Given the description of an element on the screen output the (x, y) to click on. 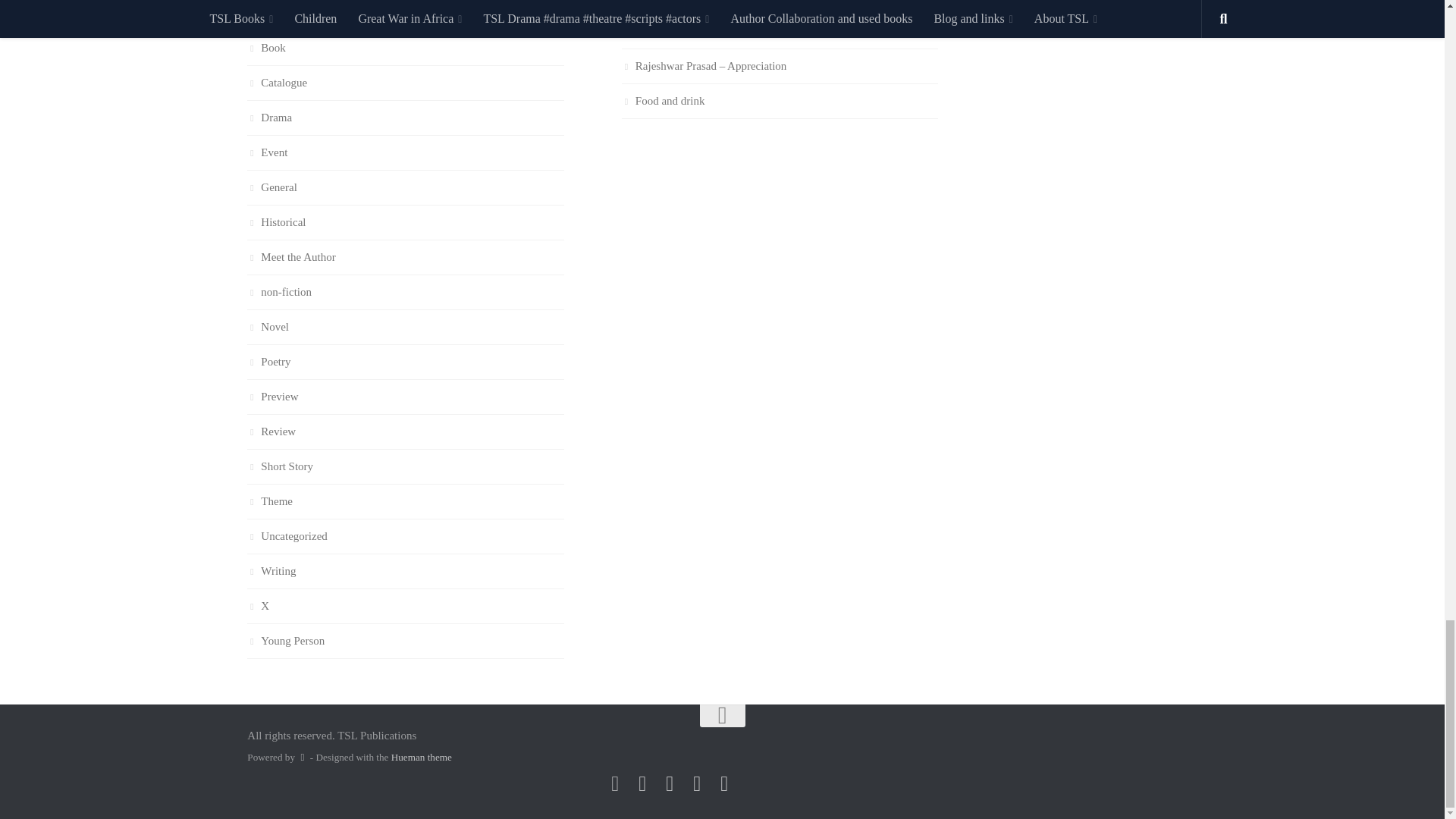
Hueman theme (421, 756)
Follow us on Mastodon (615, 783)
Powered by WordPress (302, 757)
